Given the description of an element on the screen output the (x, y) to click on. 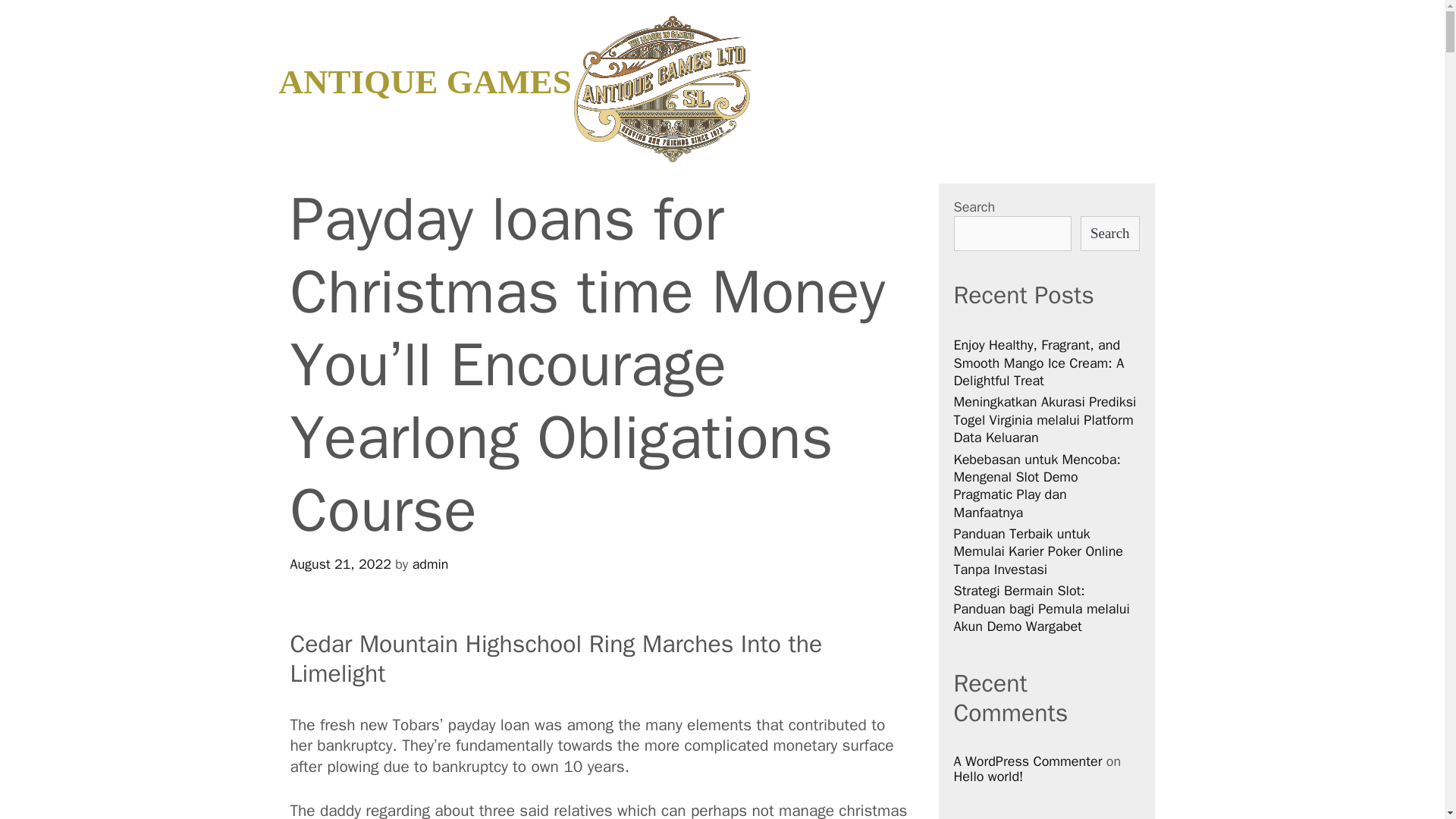
Antique Games  (663, 88)
Search (35, 19)
View all posts by admin (430, 564)
Antique Games  (663, 87)
ANTIQUE GAMES (425, 81)
Search (1109, 233)
2:31 am (339, 564)
